Given the description of an element on the screen output the (x, y) to click on. 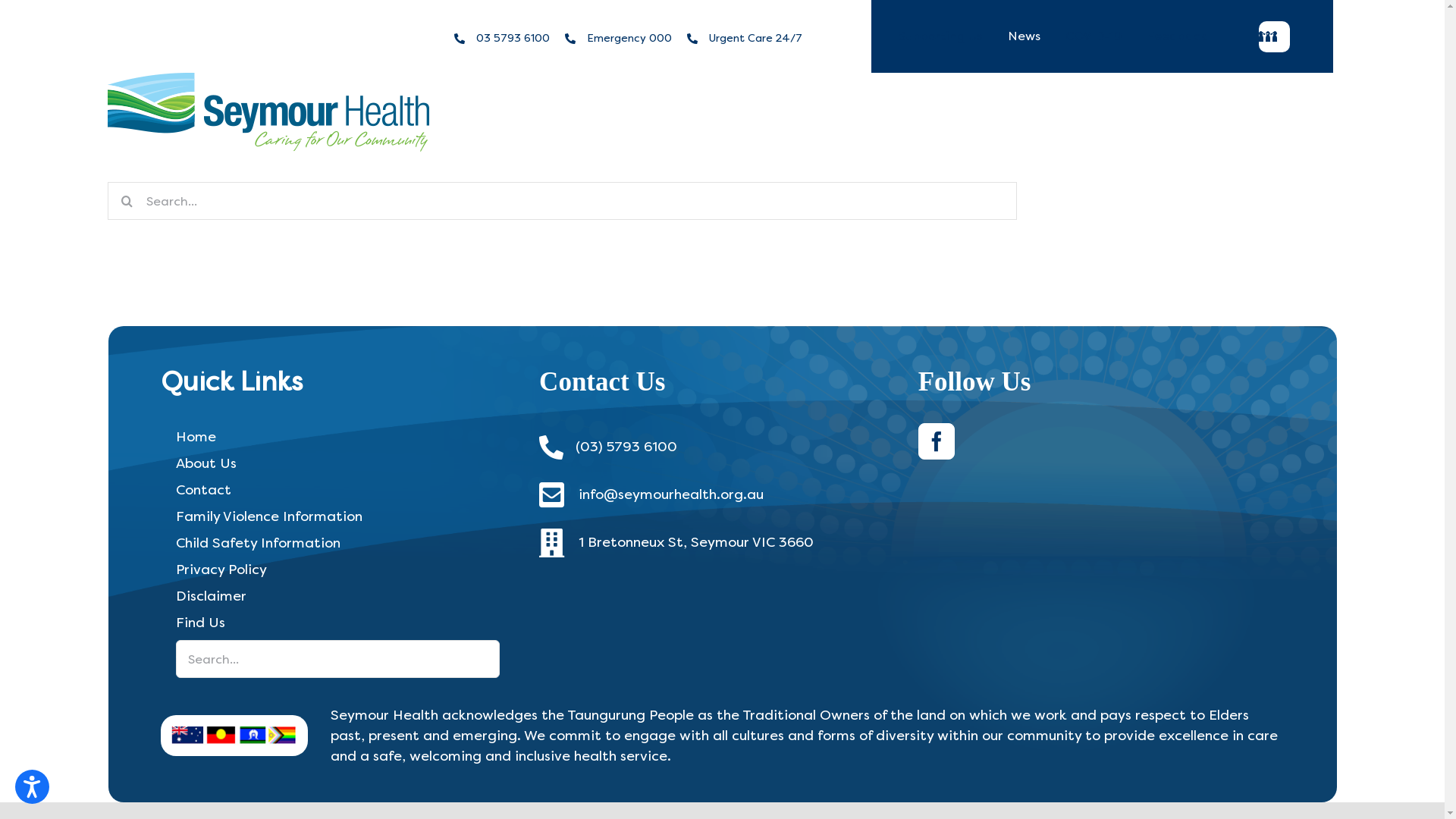
Family Violence Information Element type: text (337, 516)
Supporting Us Element type: text (940, 35)
Feedback Element type: text (1176, 35)
Home Element type: text (337, 436)
Child Safety Information Element type: text (337, 543)
Contact Element type: text (337, 489)
Urgent Care 24/7 Element type: text (755, 37)
Privacy Policy Element type: text (337, 569)
(03) 5793 6100 Element type: text (626, 446)
03 5793 6100 Element type: text (512, 37)
About Us Element type: text (337, 463)
Find Us Element type: text (337, 622)
COVID-19 Element type: text (1093, 35)
News Element type: text (1023, 35)
info@seymourhealth.org.au Element type: text (670, 494)
Disclaimer Element type: text (337, 596)
Emergency 000 Element type: text (628, 37)
